Given the description of an element on the screen output the (x, y) to click on. 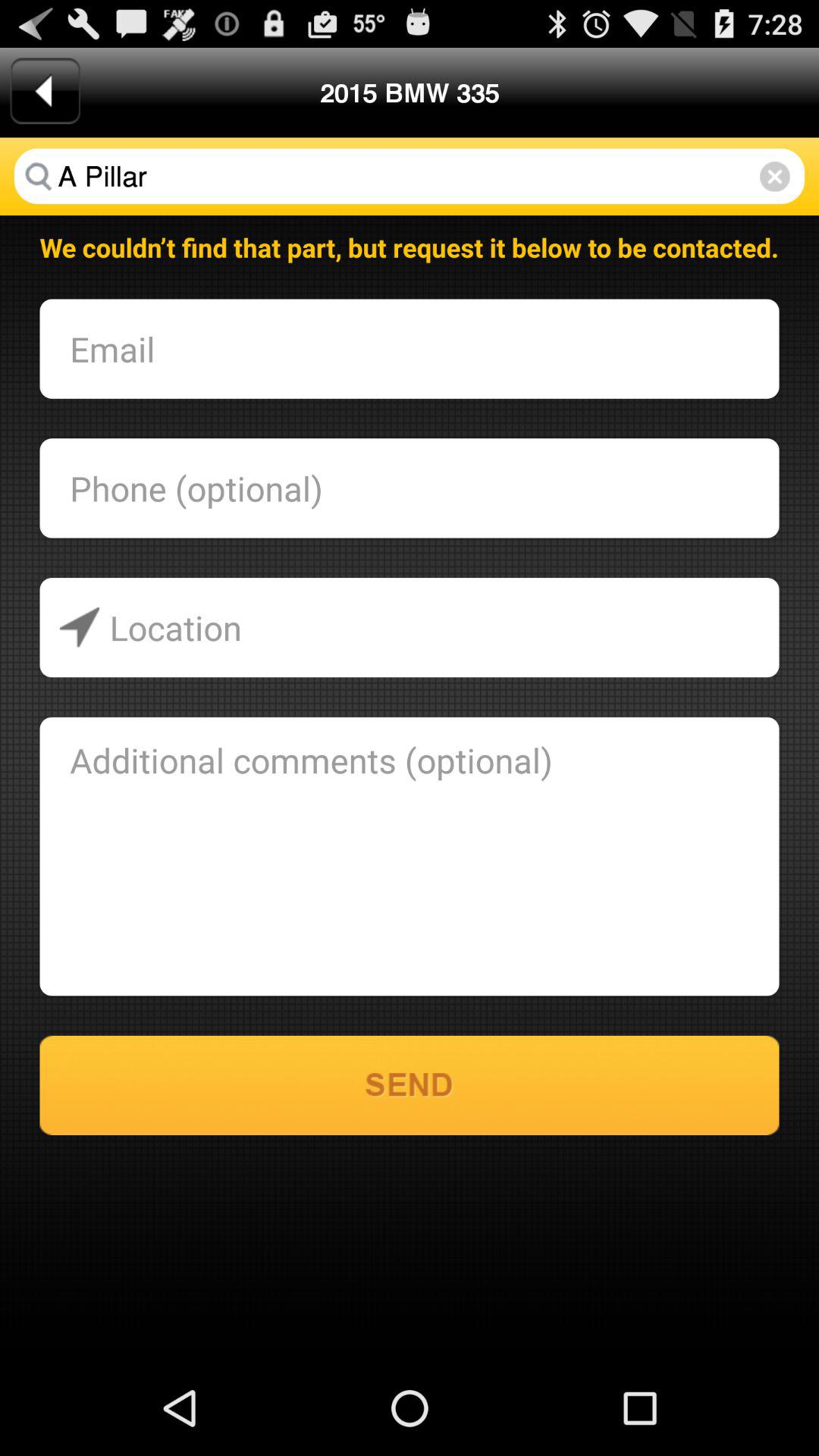
turn on the item at the top right corner (774, 176)
